Given the description of an element on the screen output the (x, y) to click on. 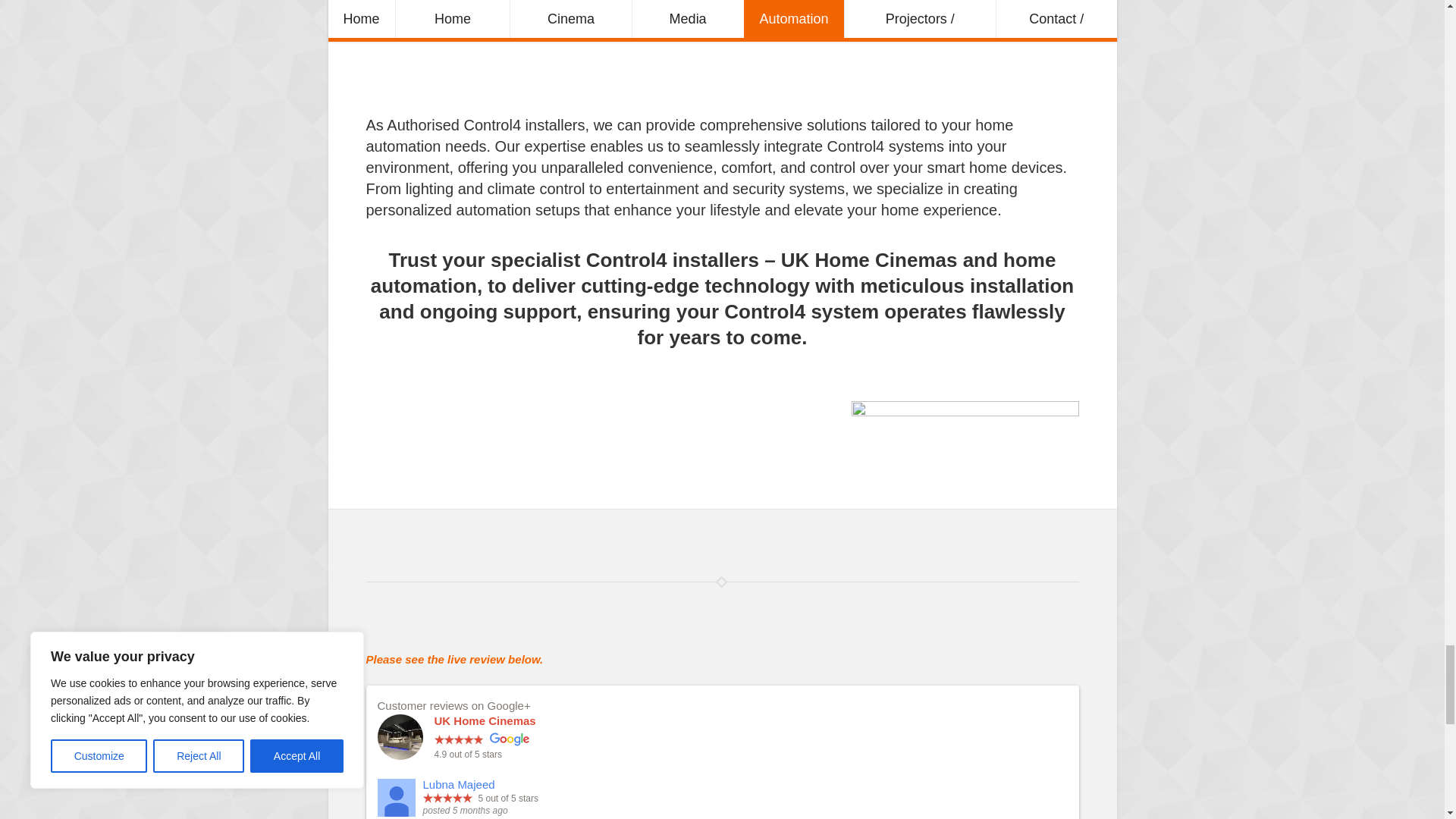
View this profile. (459, 784)
Lubna Majeed (395, 797)
 Reviewed from Google (509, 739)
UK Home Cinemas (484, 720)
